Given the description of an element on the screen output the (x, y) to click on. 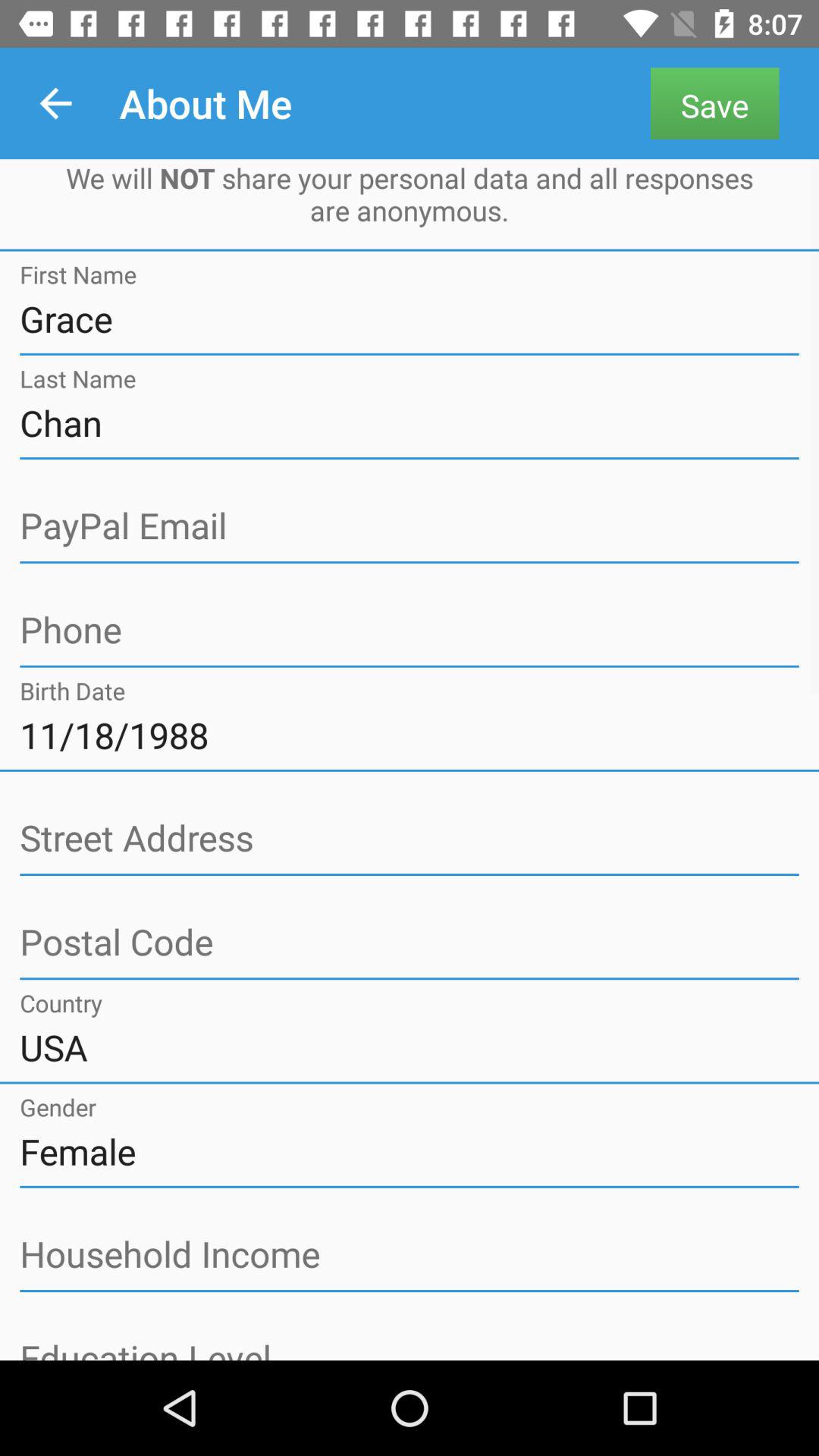
enter information area (409, 839)
